Given the description of an element on the screen output the (x, y) to click on. 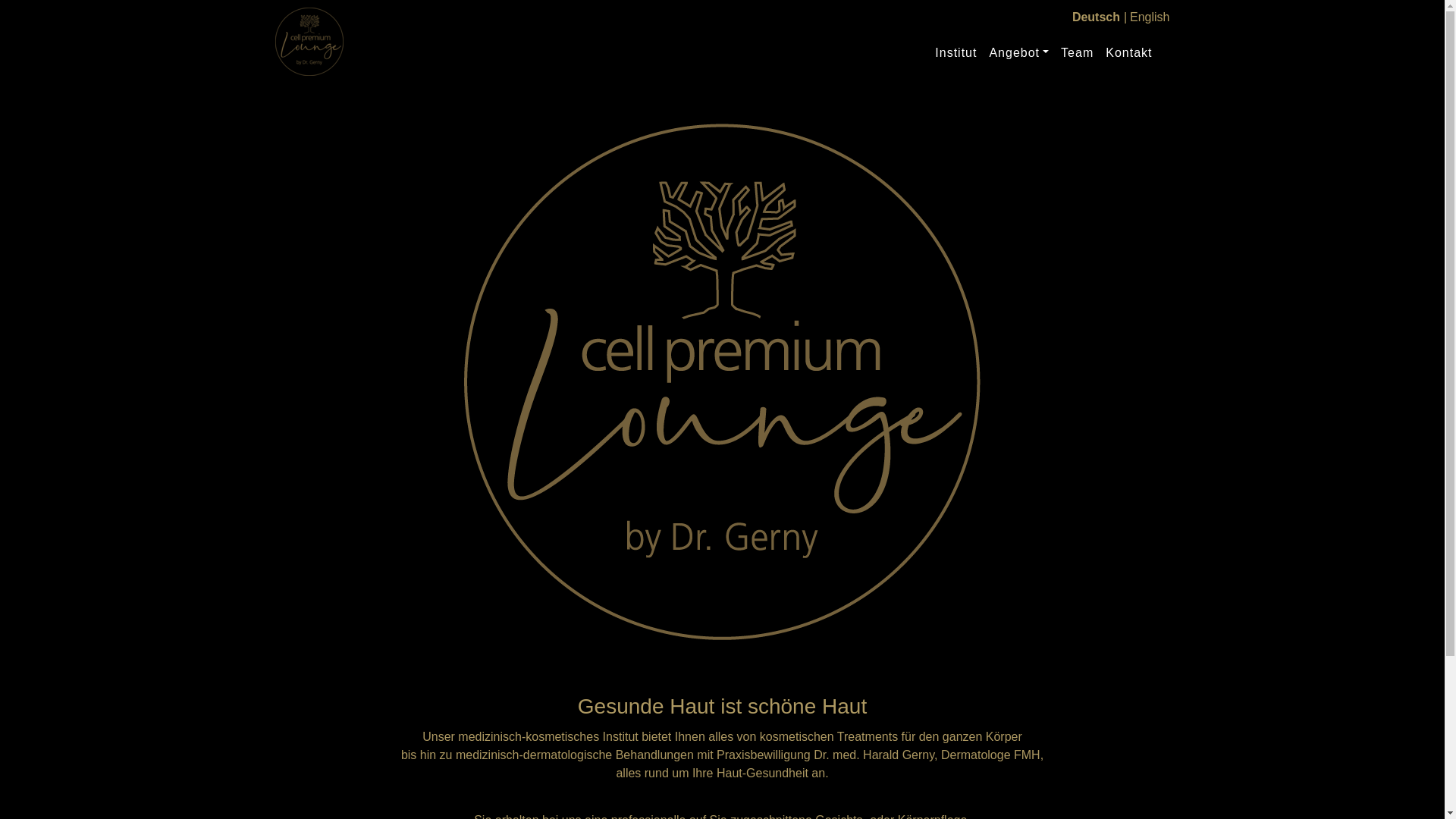
English Element type: text (1149, 16)
Kontakt Element type: text (1128, 52)
Team Element type: text (1076, 52)
Angebot Element type: text (1018, 52)
Institut Element type: text (955, 52)
Deutsch Element type: text (1096, 16)
